Given the description of an element on the screen output the (x, y) to click on. 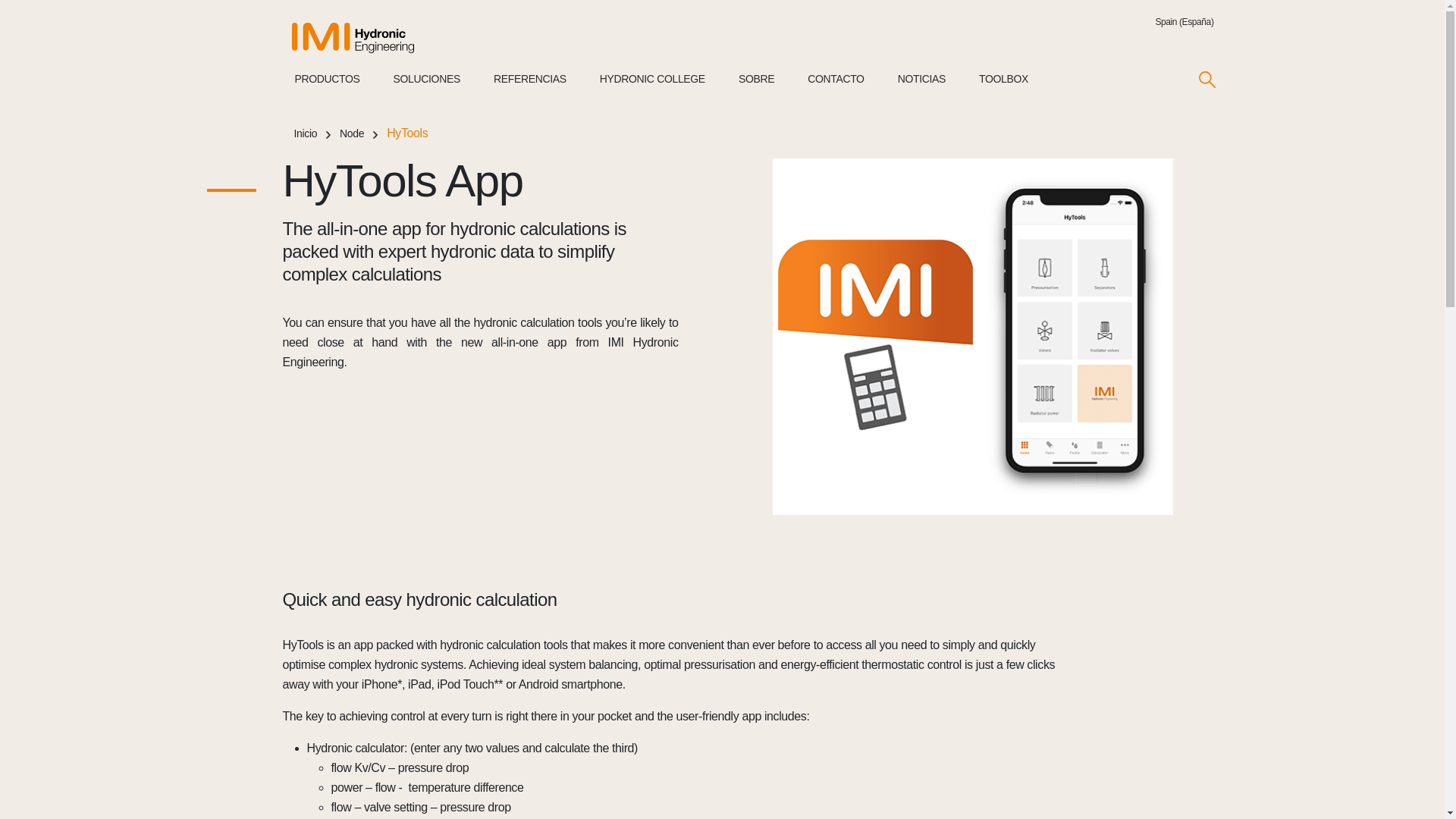
HYDRONIC COLLEGE (651, 89)
SOLUCIONES (426, 89)
Home (366, 37)
REFERENCIAS (529, 90)
PRODUCTOS (326, 89)
